Given the description of an element on the screen output the (x, y) to click on. 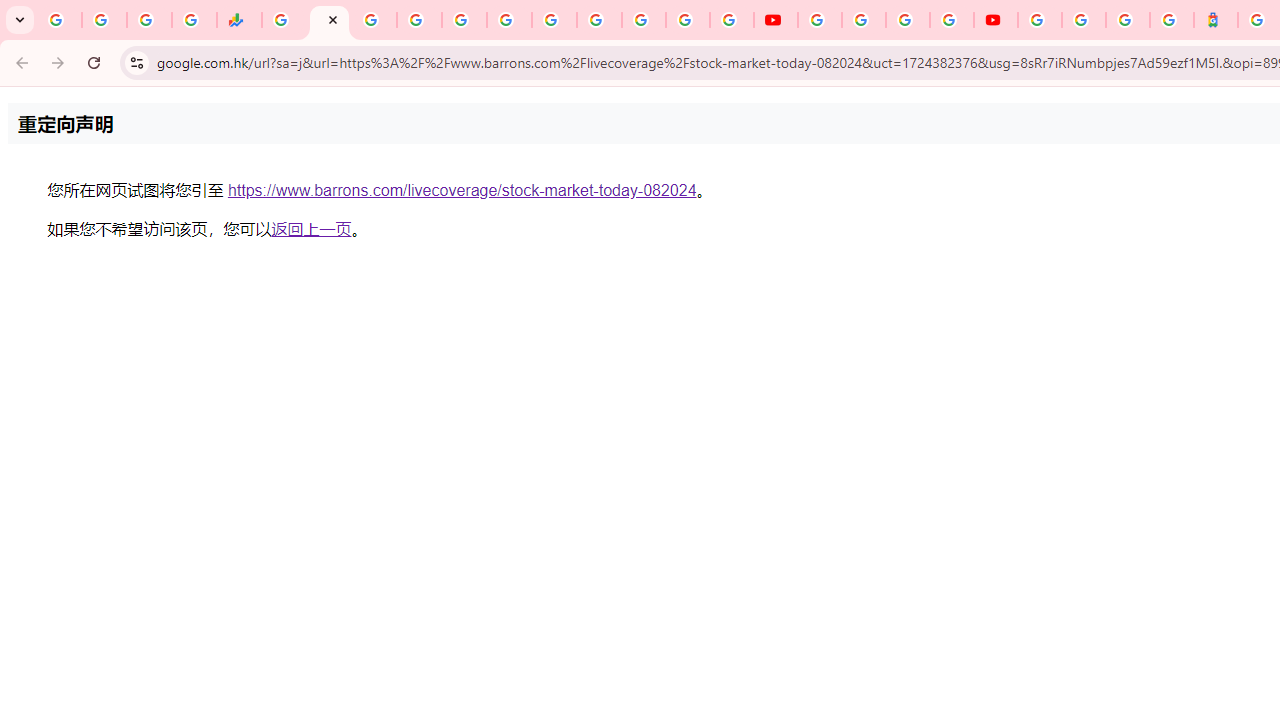
Atour Hotel - Google hotels (1215, 20)
YouTube (819, 20)
YouTube (599, 20)
